Given the description of an element on the screen output the (x, y) to click on. 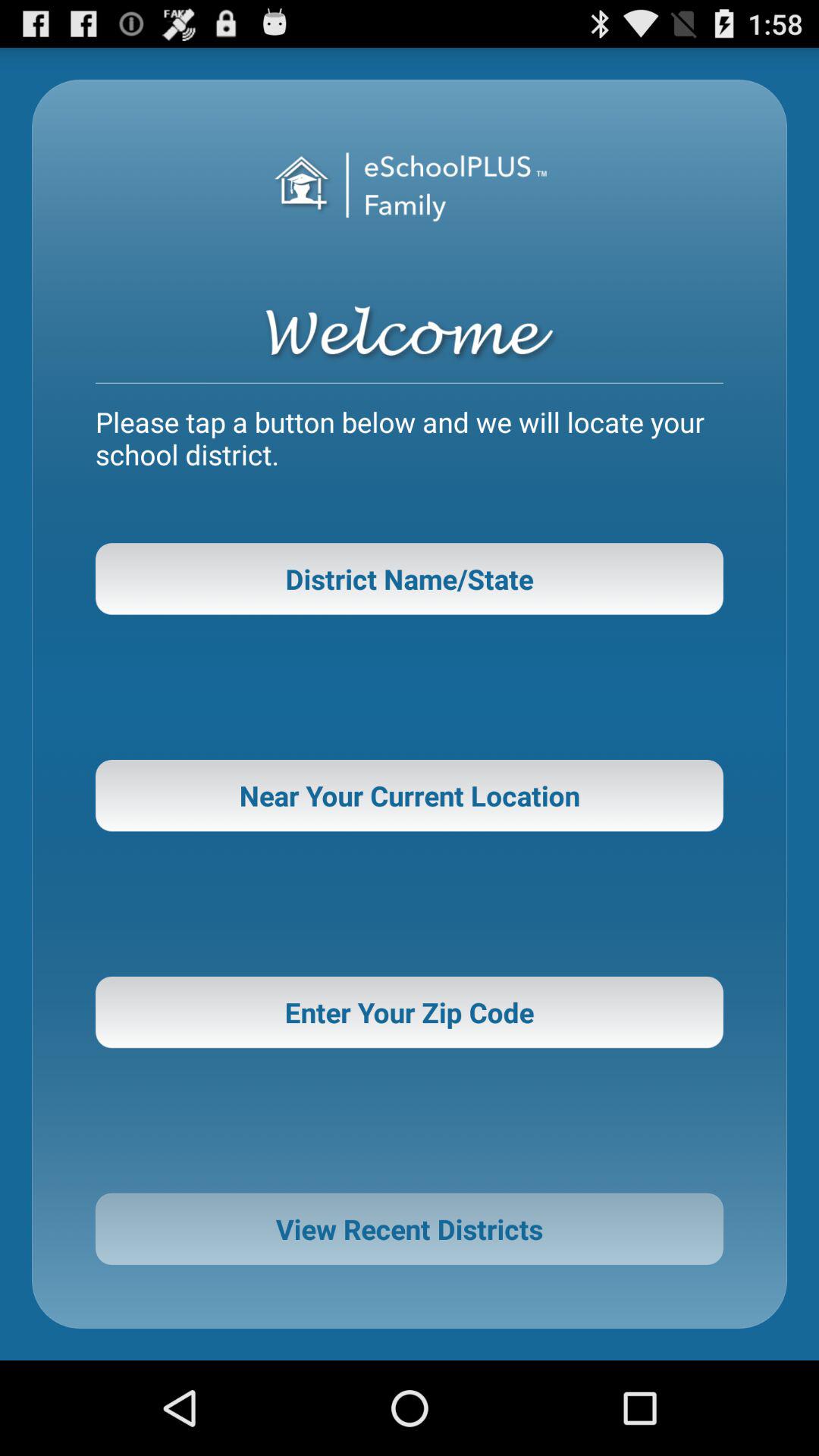
press the app below the please tap a app (409, 578)
